Given the description of an element on the screen output the (x, y) to click on. 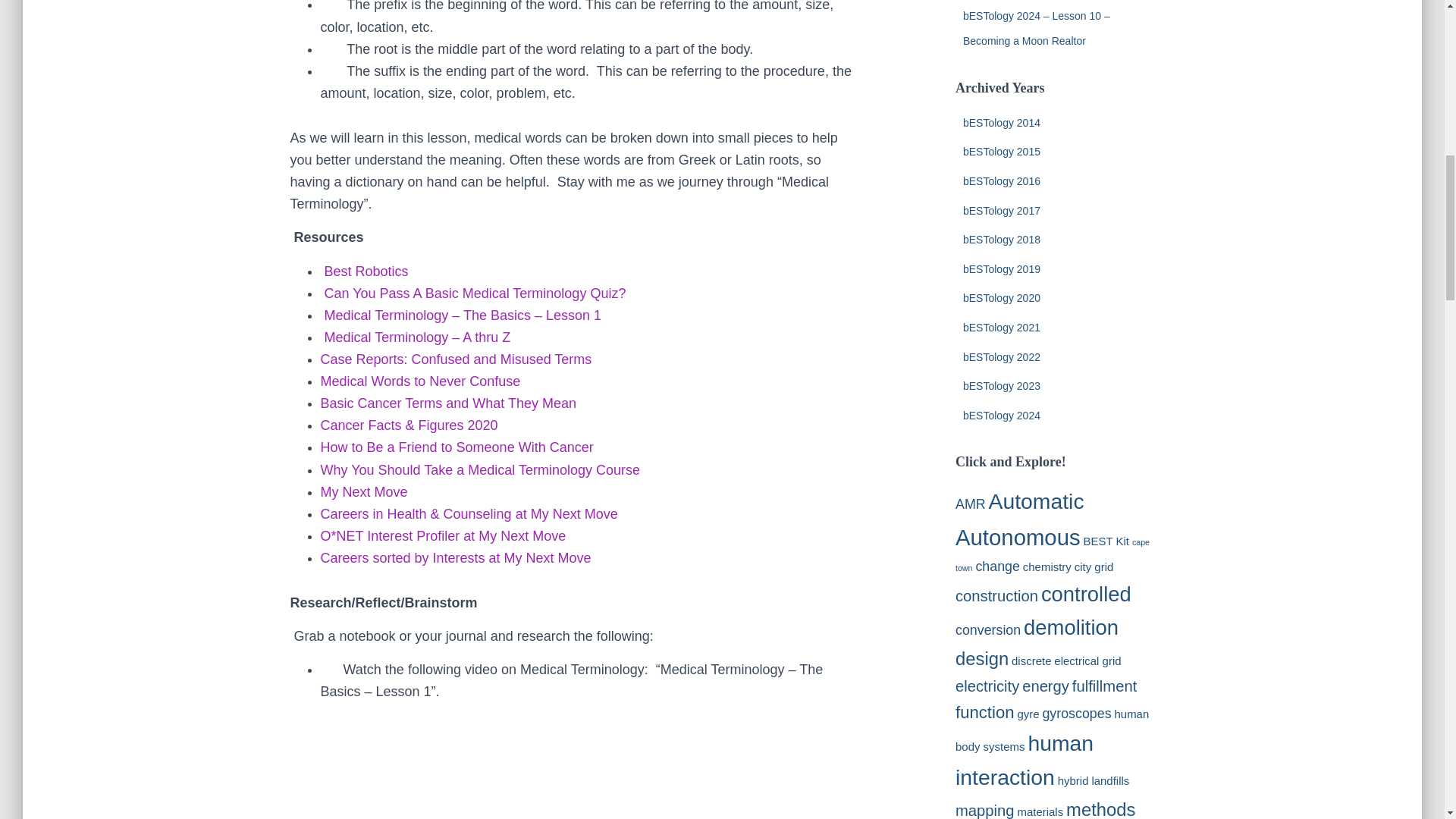
All lessons from the BEST 2016 season (1001, 181)
All lessons from the BEST 2024 season (1001, 415)
All lessons from the BEST 2019 season (1001, 268)
All lessons form the BEST 2023 season (1001, 386)
All lessons from the BEST 2018 season (1001, 239)
Why You Should Take a Medical Terminology Course (480, 469)
Case Reports: Confused and Misused Terms (455, 359)
All lessons from the BEST 2014 season (1001, 122)
All lessons from the BEST 2020 season (1001, 297)
Medical Words to Never Confuse (419, 381)
My Next Move (363, 491)
All lessons from the BEST 2017 season (1001, 210)
All lessons from the BEST 2015 season (1001, 151)
Careers sorted by Interests at My Next Move (455, 557)
Basic Cancer Terms and What They Mean (447, 403)
